Given the description of an element on the screen output the (x, y) to click on. 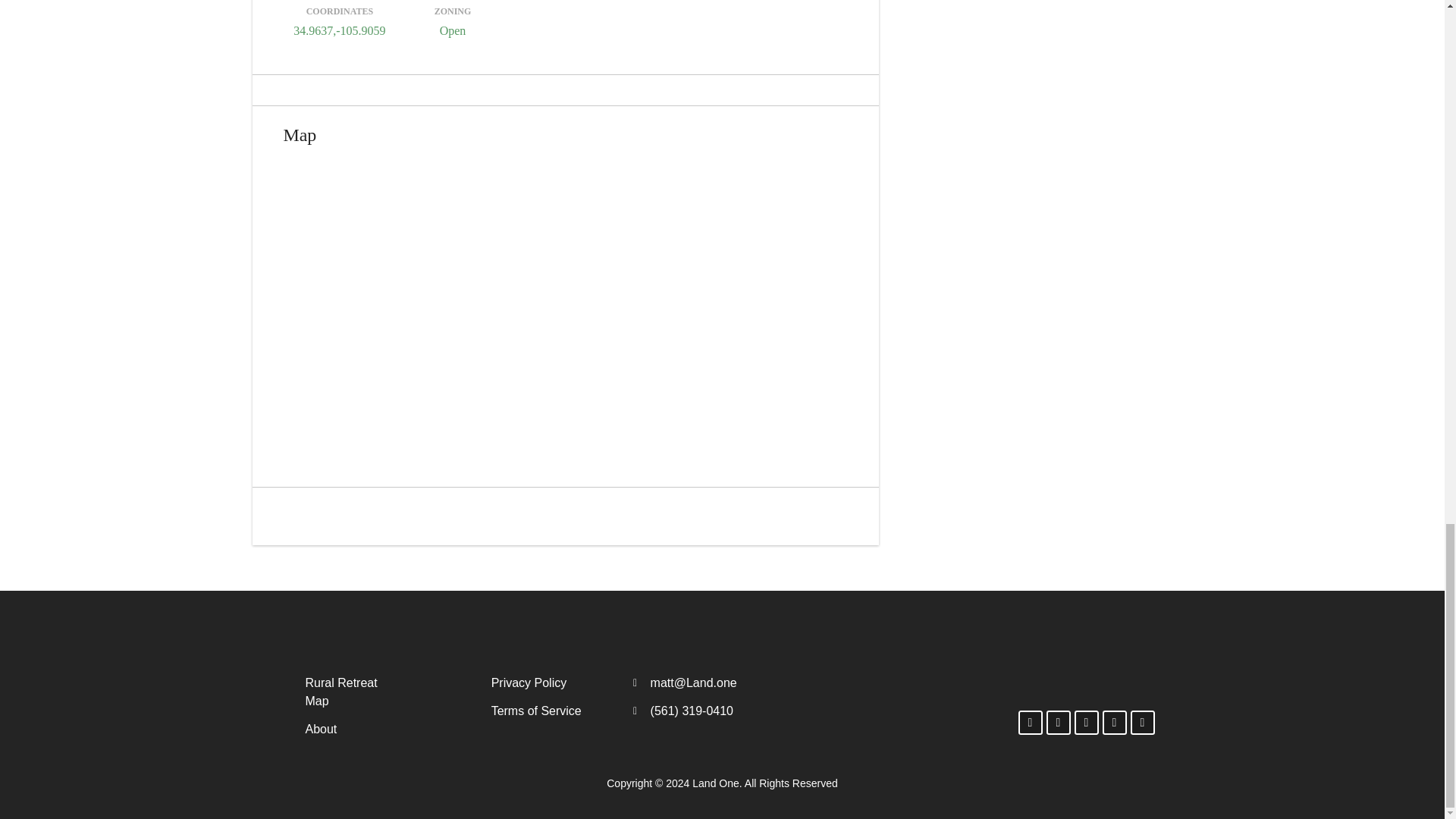
Privacy Policy (554, 683)
About (343, 729)
Rural Retreat Map (343, 692)
Terms of Service (554, 710)
LO1whitesmall (372, 628)
